Given the description of an element on the screen output the (x, y) to click on. 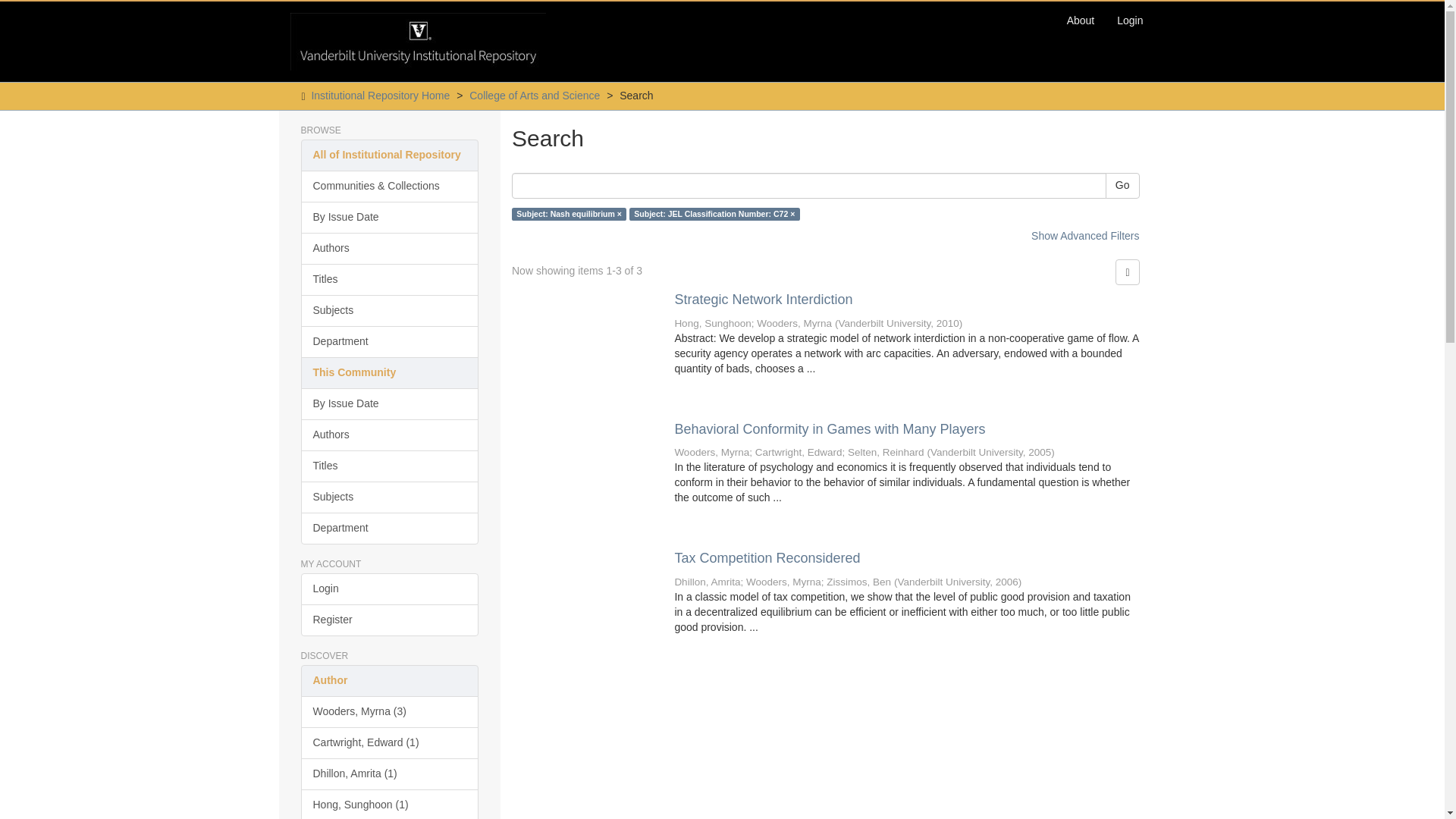
Department (389, 528)
Authors (389, 435)
Institutional Repository Home (380, 95)
Titles (389, 466)
This Community (389, 373)
Register (389, 620)
All of Institutional Repository (389, 155)
Subjects (389, 310)
About (1080, 20)
Subjects (389, 497)
